Given the description of an element on the screen output the (x, y) to click on. 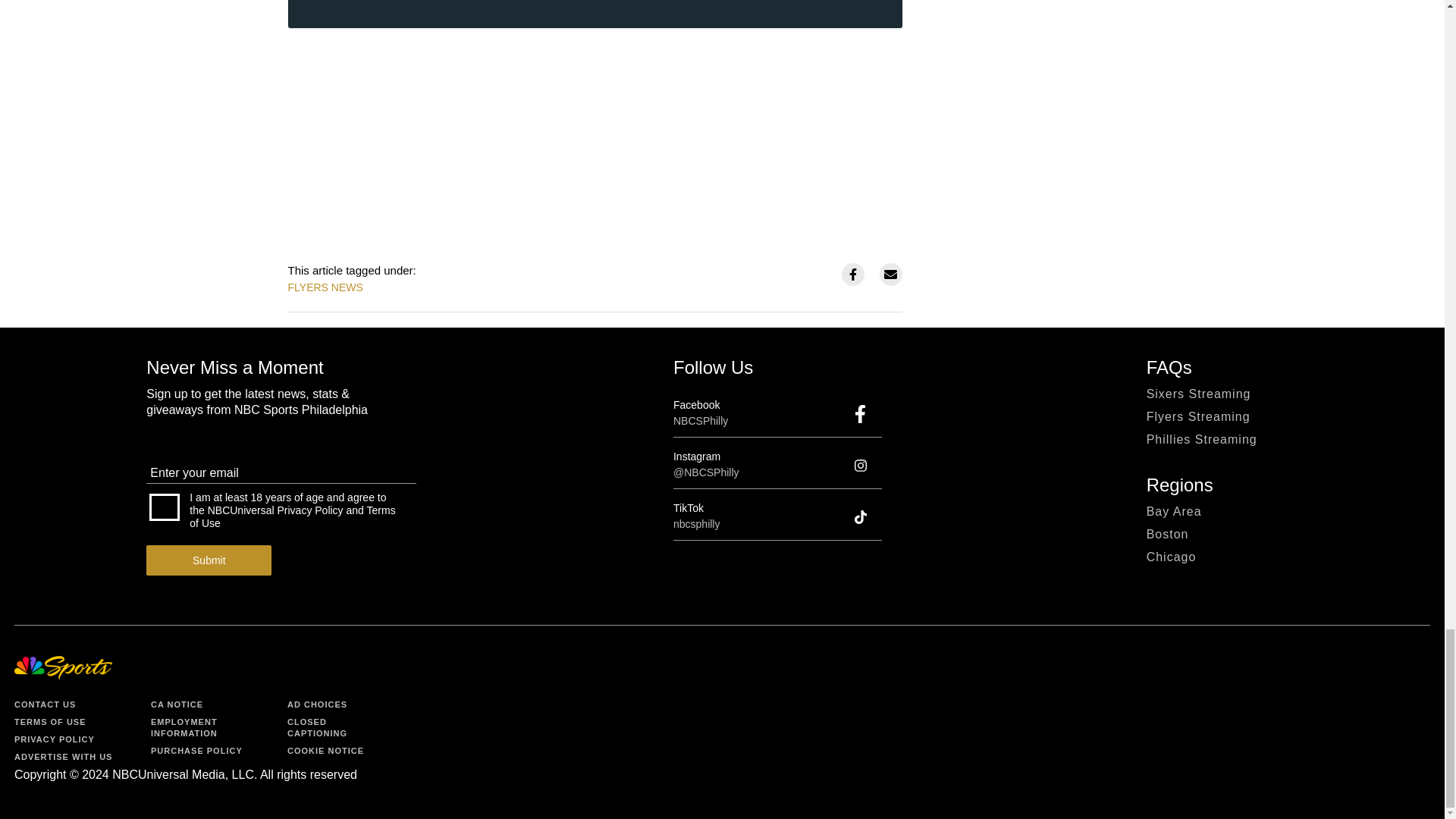
on (164, 506)
